Given the description of an element on the screen output the (x, y) to click on. 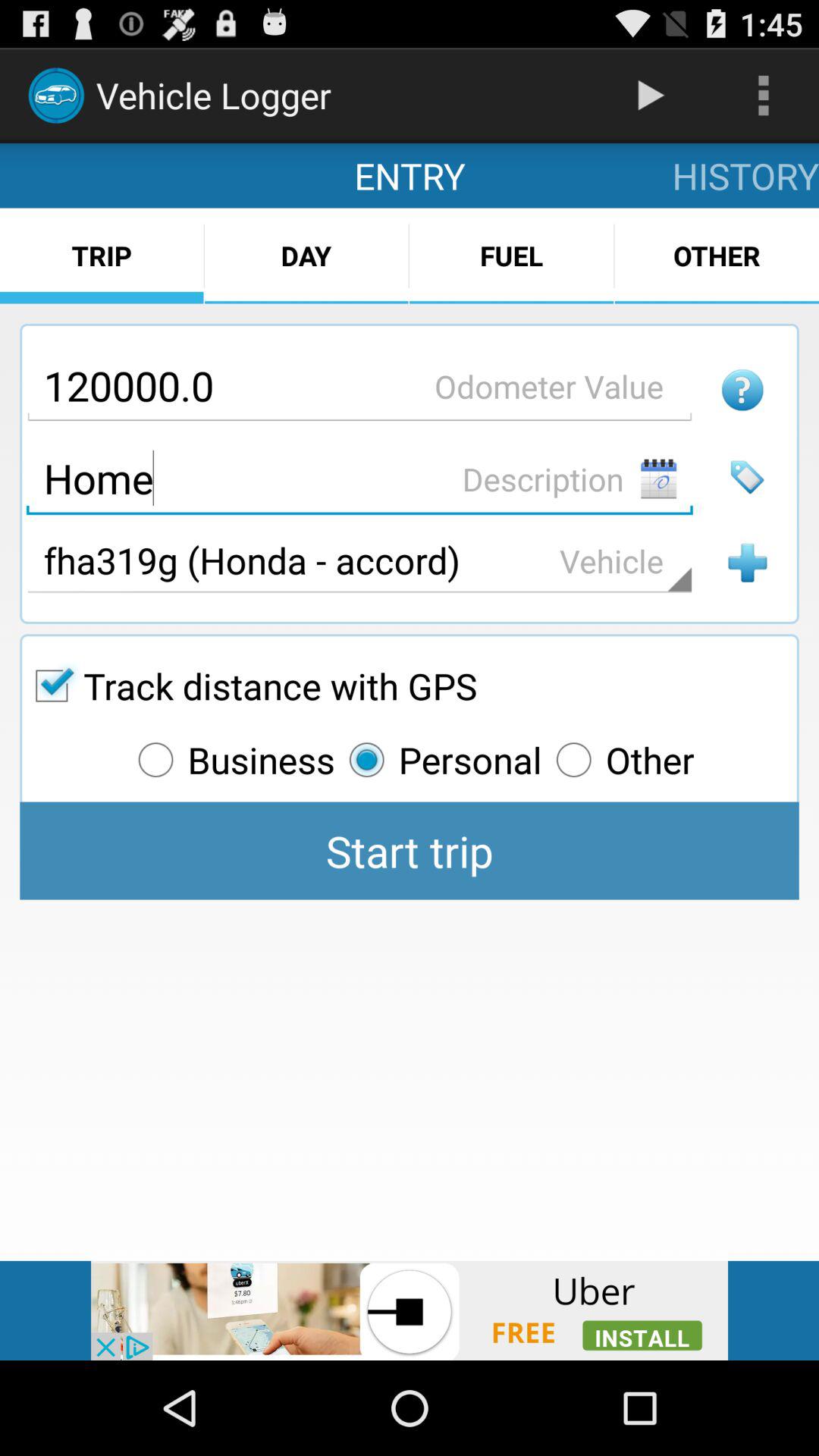
install an app (409, 1310)
